Given the description of an element on the screen output the (x, y) to click on. 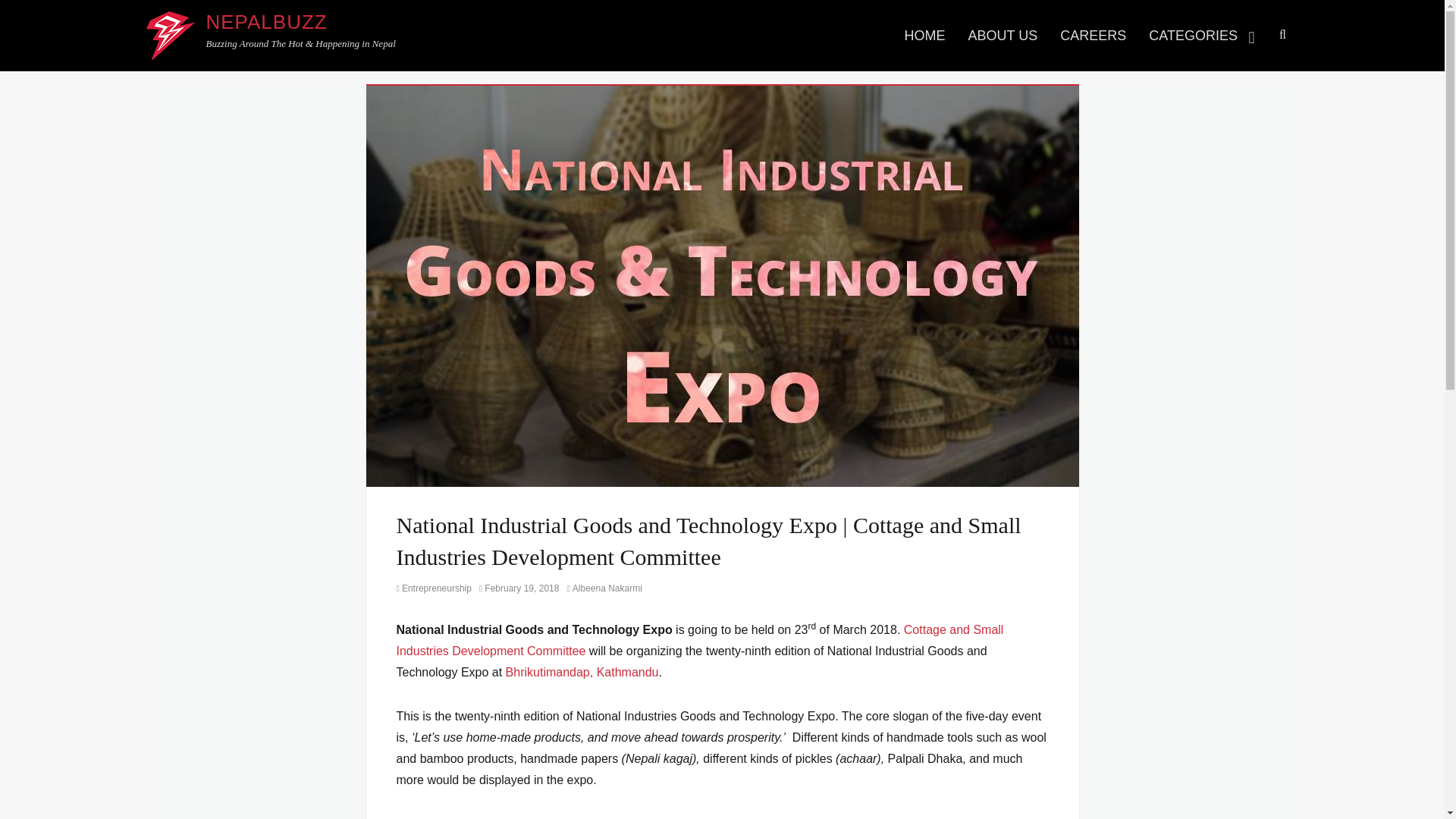
Albeena Nakarmi (604, 588)
Bhrikutimandap, Kathmandu (582, 671)
ABOUT US (1002, 35)
CAREERS (1092, 35)
CATEGORIES (1202, 35)
HOME (924, 35)
Cottage and Small Industries Development Committee (699, 640)
February 19, 2018 (519, 588)
Entrepreneurship (433, 588)
NEPALBUZZ (266, 21)
